Given the description of an element on the screen output the (x, y) to click on. 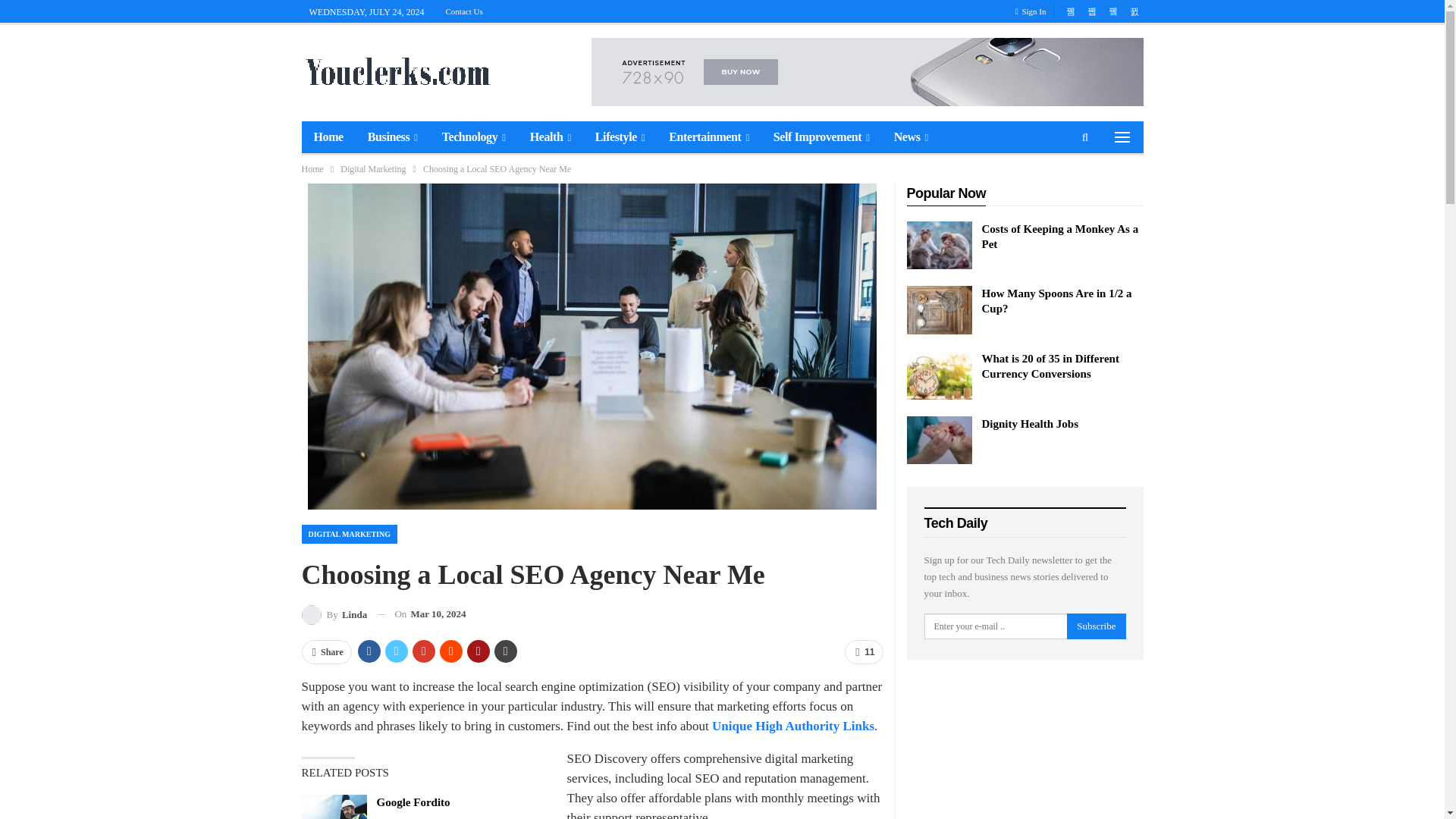
Google Fordito (333, 806)
Browse Author Articles (334, 614)
